Given the description of an element on the screen output the (x, y) to click on. 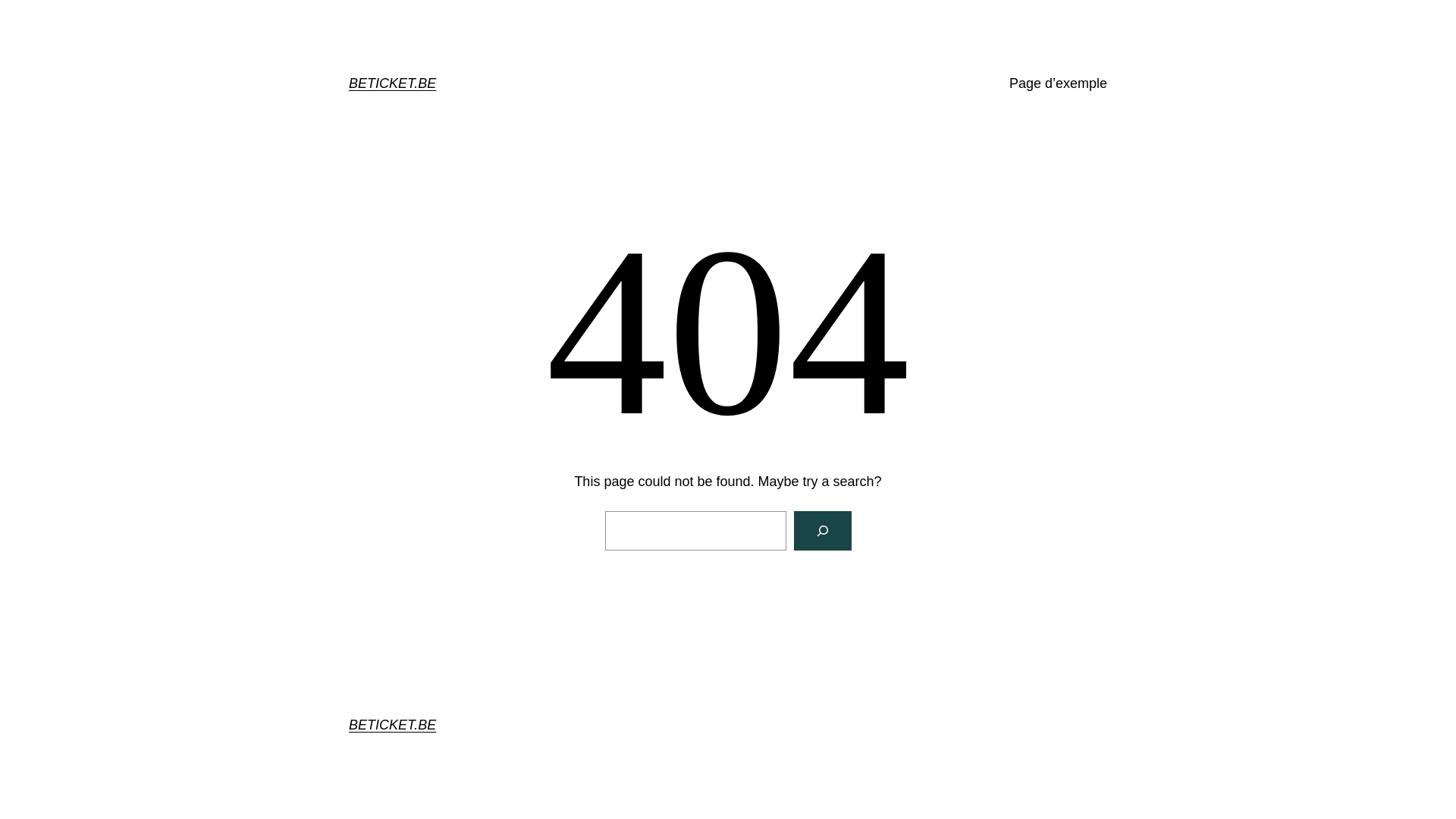
BETICKET.BE Element type: text (392, 83)
BETICKET.BE Element type: text (392, 724)
